Given the description of an element on the screen output the (x, y) to click on. 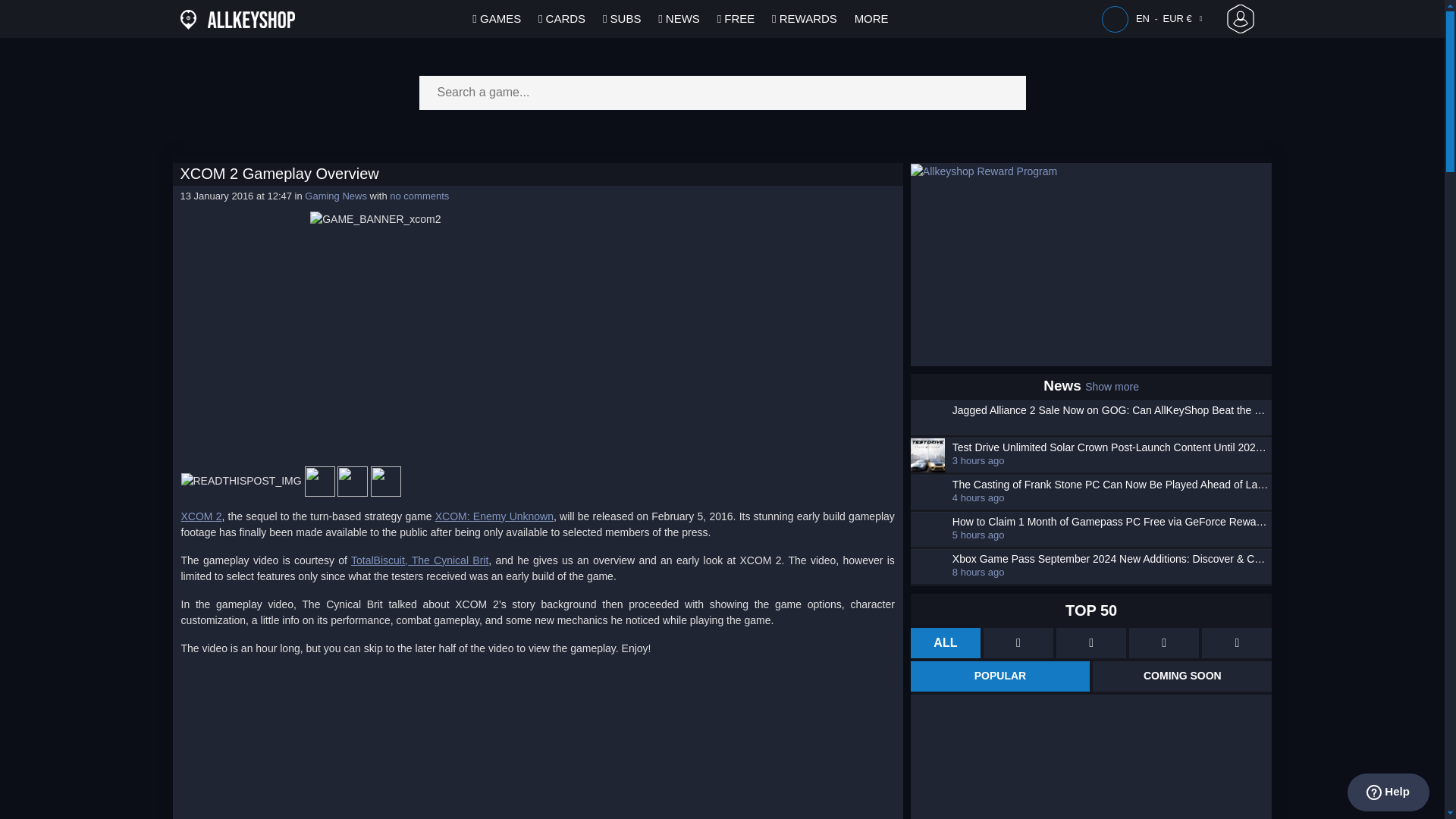
FREE (735, 18)
MORE (871, 18)
REWARDS (804, 18)
SUBS (621, 18)
How to Claim 1 Month of Gamepass PC Free via GeForce Rewards (1110, 521)
Show more (1111, 386)
GAMES (496, 18)
NEWS (678, 18)
